Given the description of an element on the screen output the (x, y) to click on. 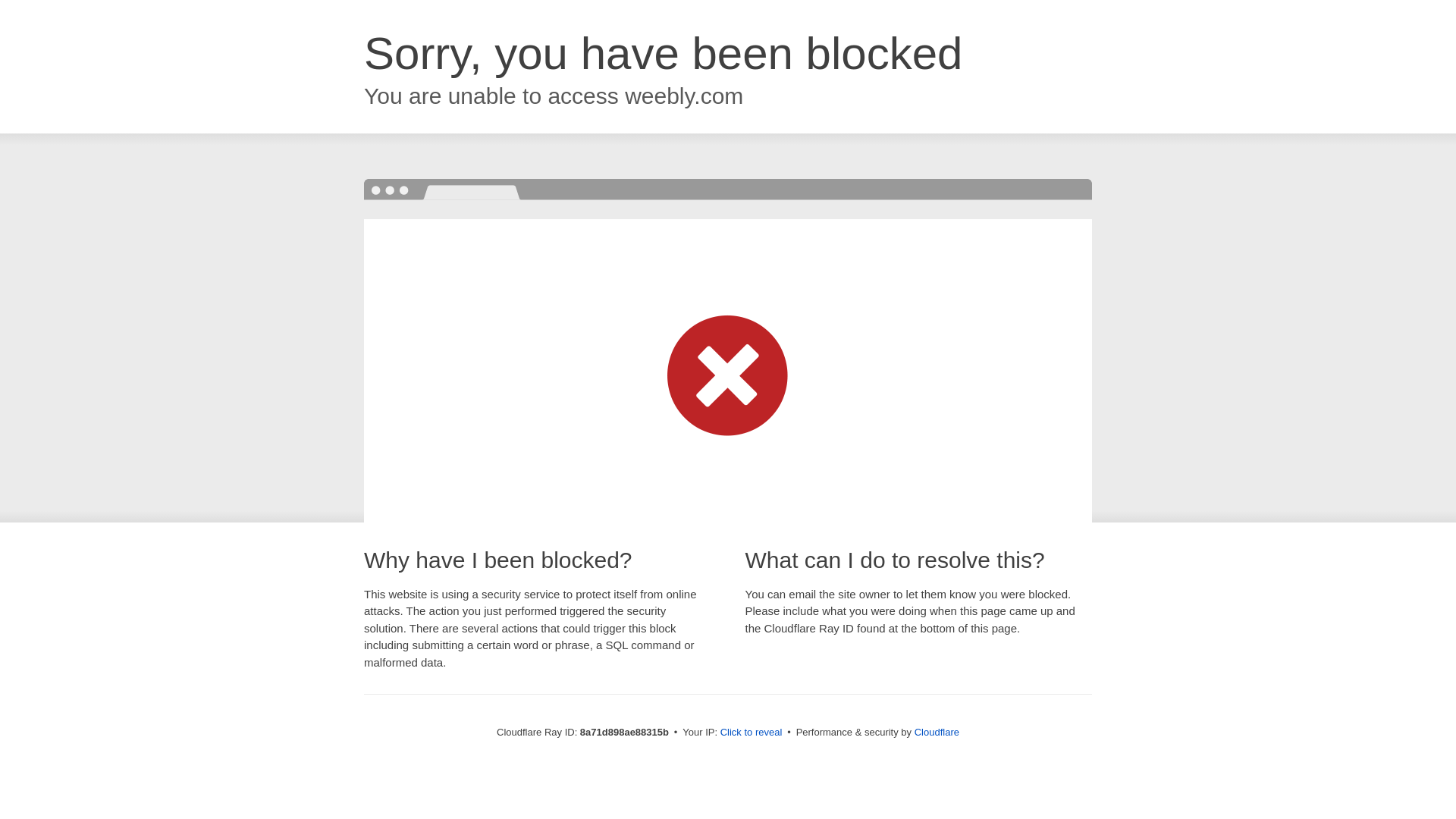
Click to reveal (751, 732)
Cloudflare (936, 731)
